Given the description of an element on the screen output the (x, y) to click on. 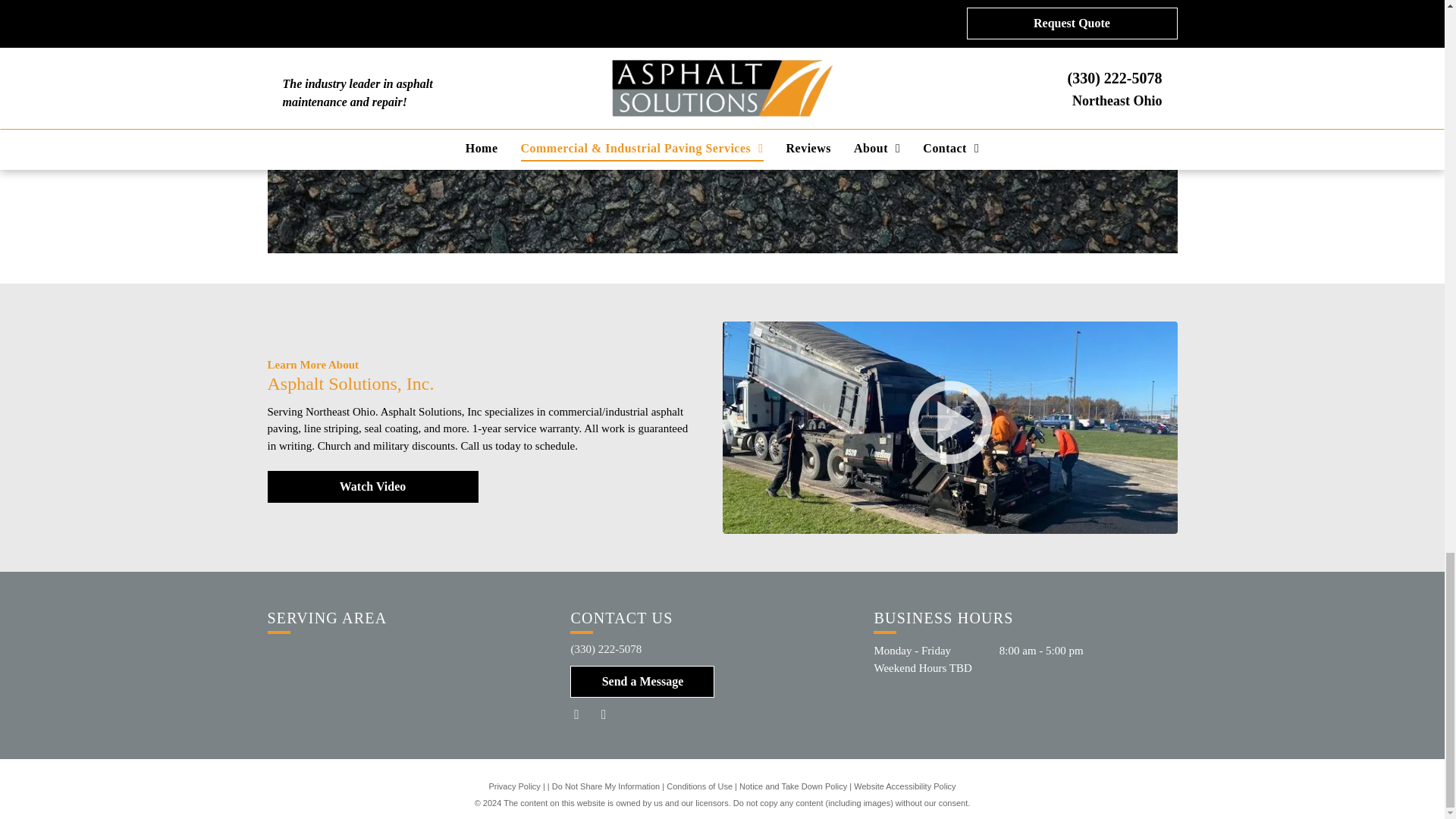
Send a Message (642, 681)
hibu-video-splash (949, 422)
Do Not Share My Information (605, 786)
Watch Video (371, 486)
Notice and Take Down Policy (793, 786)
Website Accessibility Policy (904, 786)
Conditions of Use (699, 786)
video-splash-pop (722, 120)
Privacy Policy (513, 786)
